Given the description of an element on the screen output the (x, y) to click on. 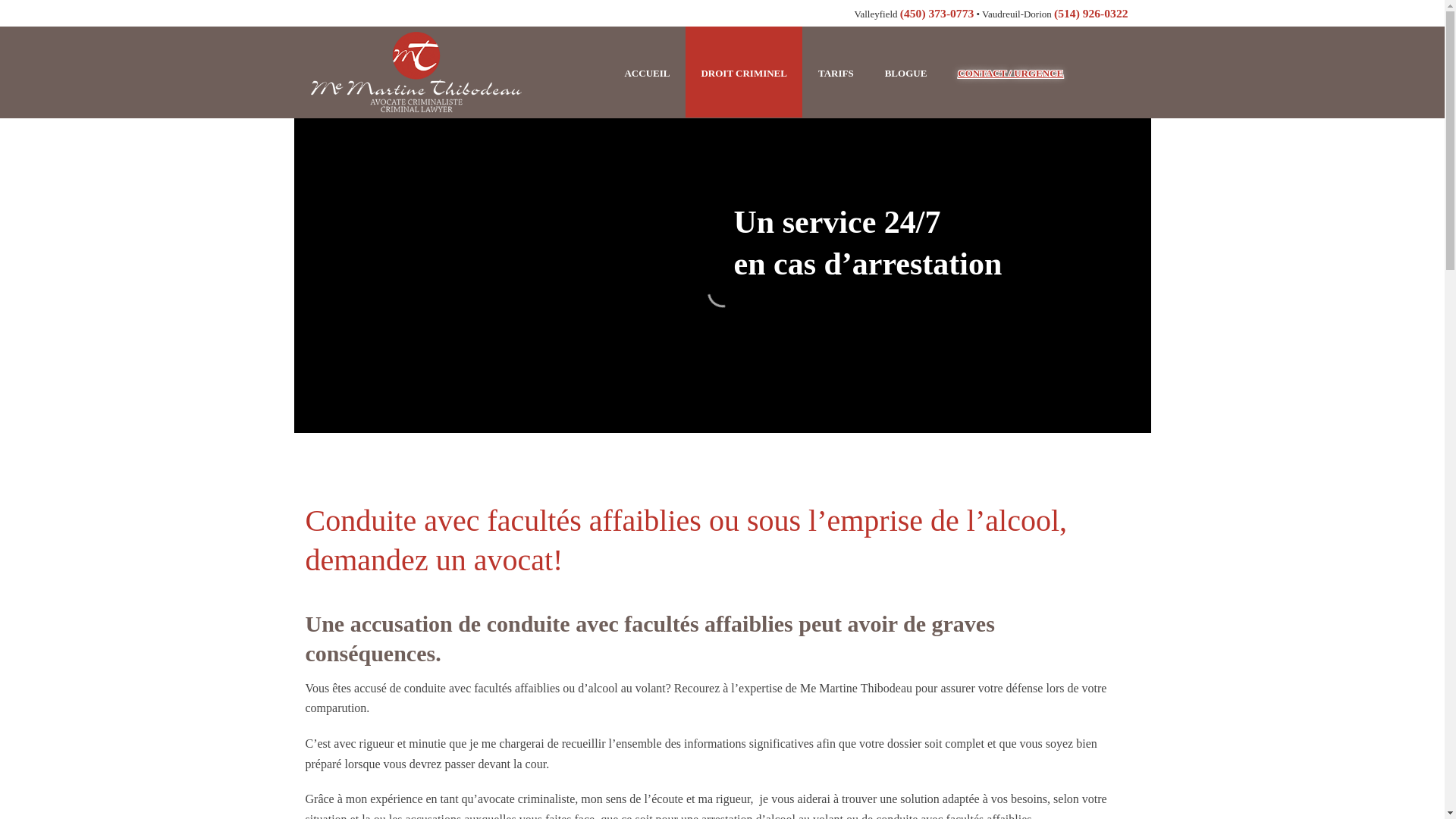
ACCUEIL Element type: text (646, 71)
DROIT CRIMINEL Element type: text (743, 71)
BLOGUE Element type: text (905, 71)
(514) 926-0322 Element type: text (1090, 12)
CONTACT / URGENCE Element type: text (1010, 71)
TARIFS Element type: text (836, 71)
(450) 373-0773 Element type: text (936, 12)
